Given the description of an element on the screen output the (x, y) to click on. 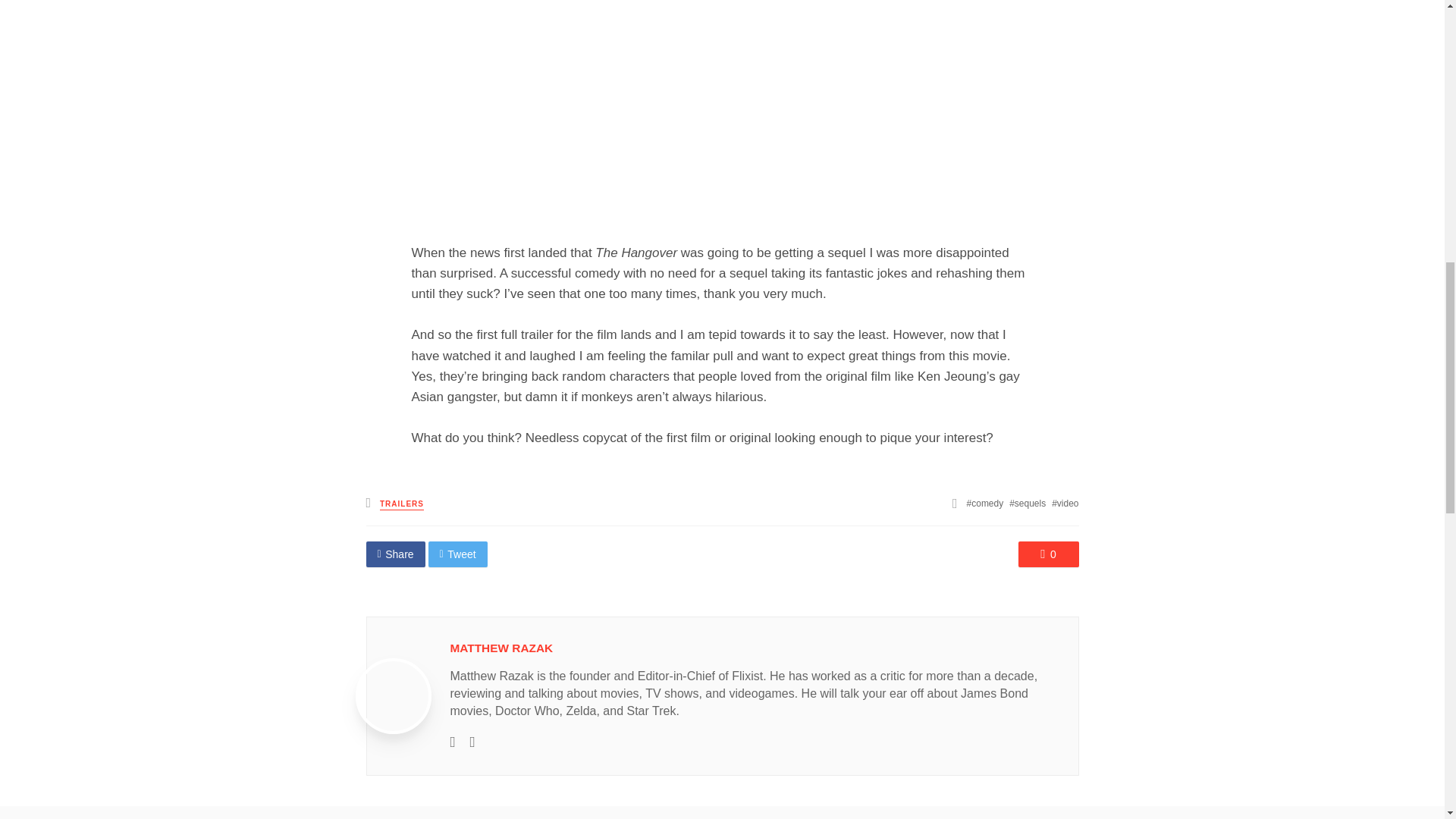
comedy (985, 502)
TRAILERS (401, 504)
0 (1047, 554)
Share (395, 554)
MATTHEW RAZAK (501, 647)
Posts by Matthew Razak (501, 647)
Tweet (457, 554)
sequels (1027, 502)
video (1064, 502)
